Given the description of an element on the screen output the (x, y) to click on. 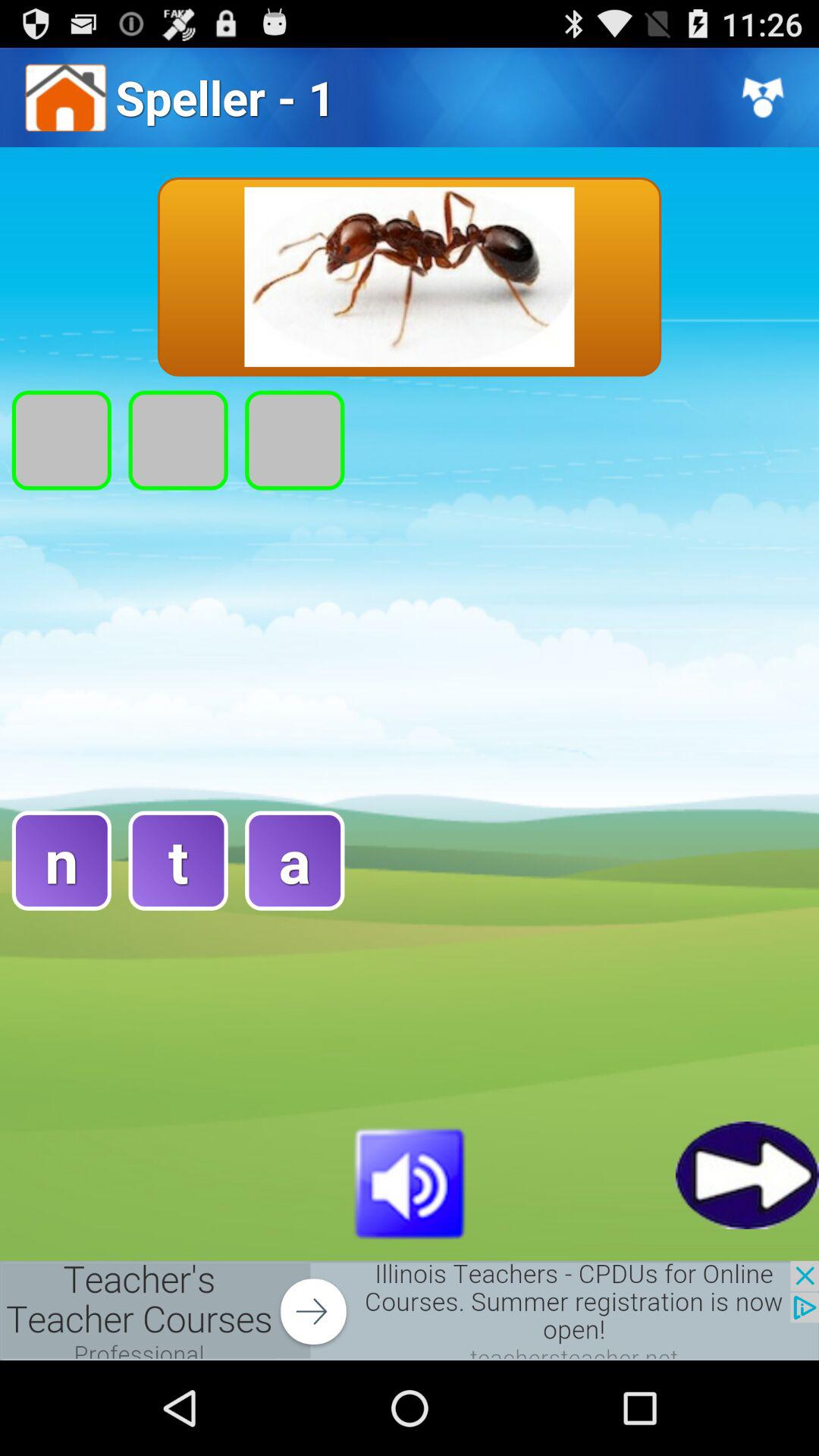
next puzzle (747, 1175)
